Given the description of an element on the screen output the (x, y) to click on. 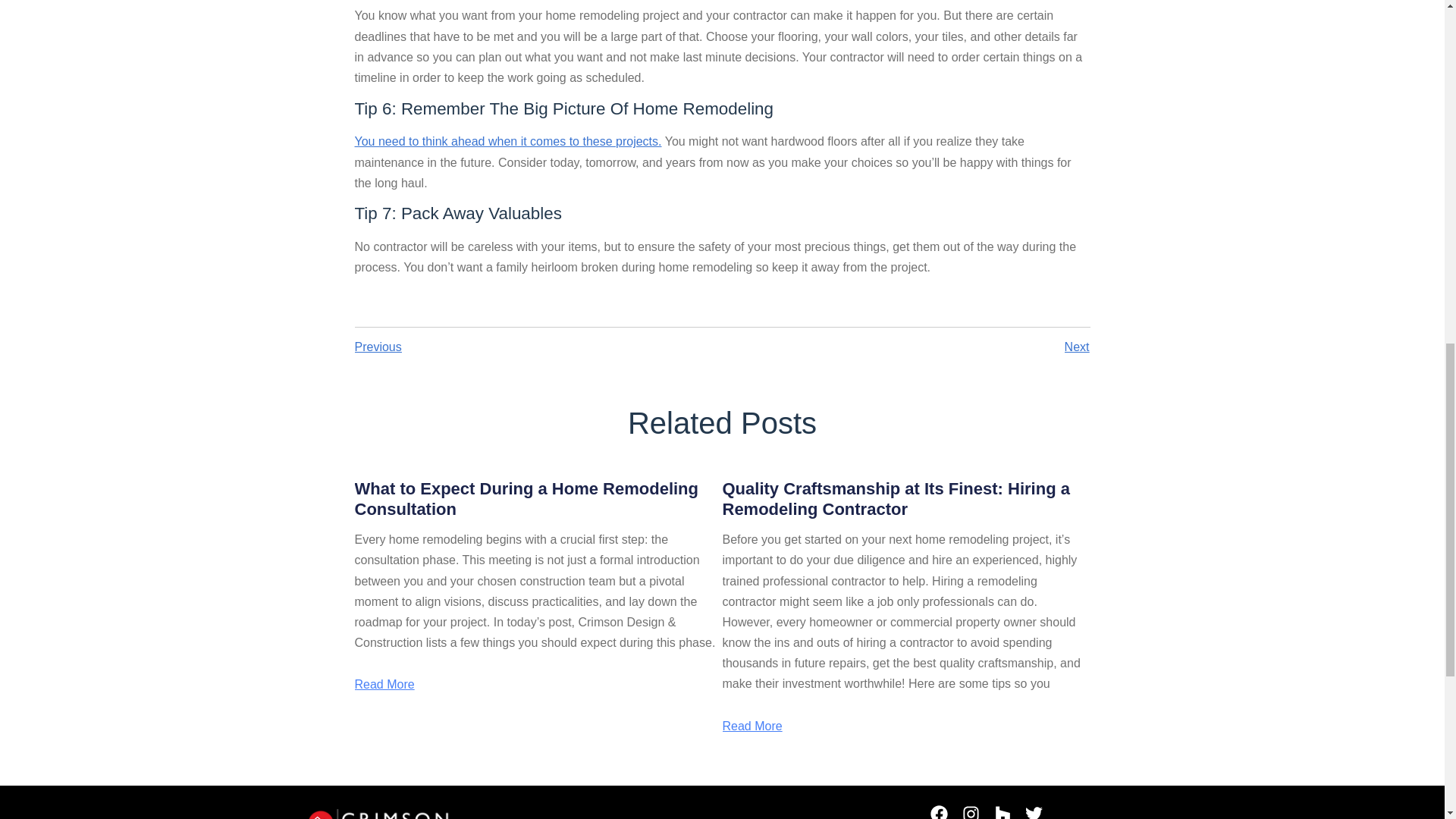
You need to think ahead when it comes to these projects. (508, 141)
Previous (538, 346)
Next (905, 346)
